Given the description of an element on the screen output the (x, y) to click on. 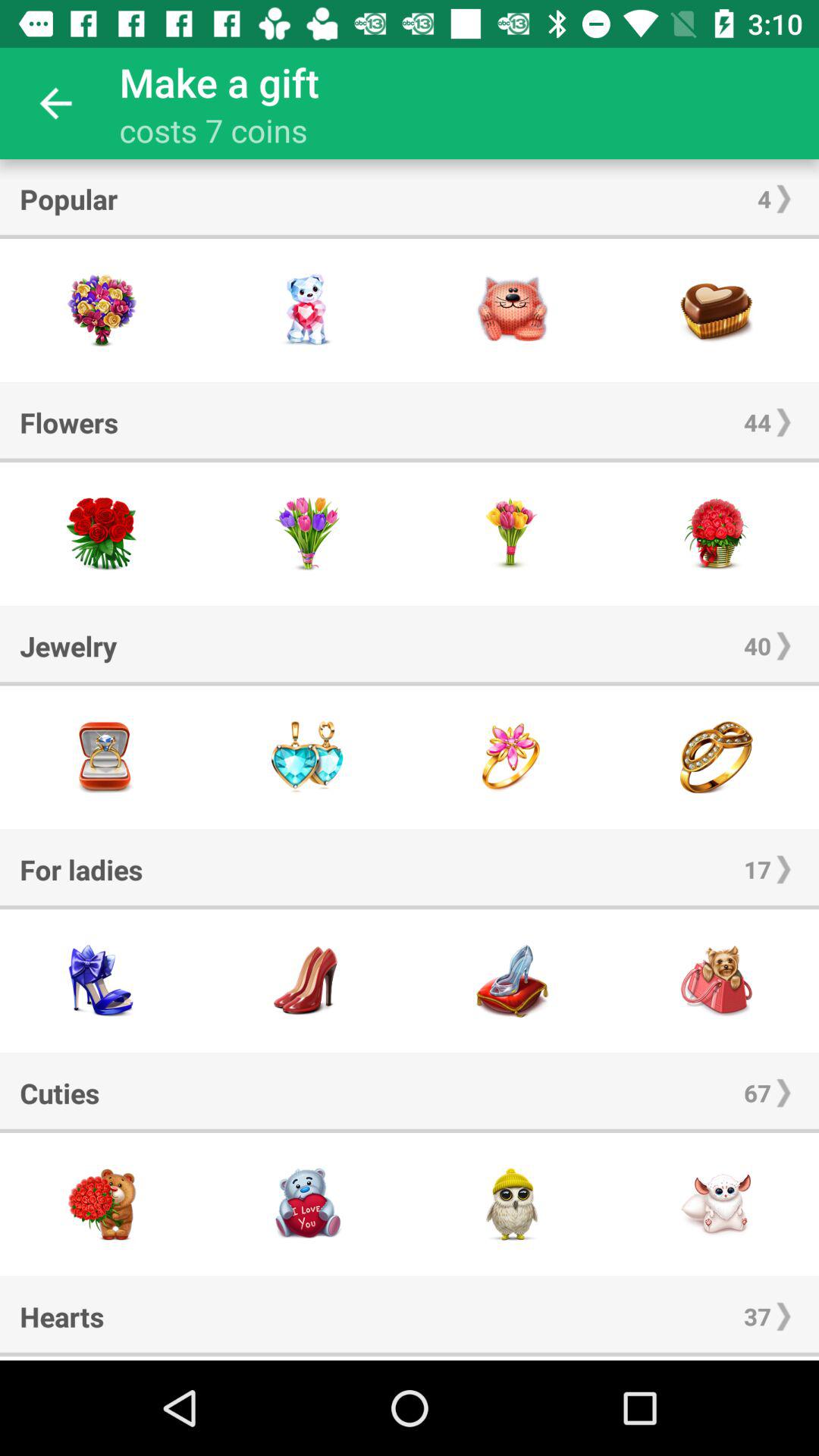
select this jewelry item (306, 757)
